Given the description of an element on the screen output the (x, y) to click on. 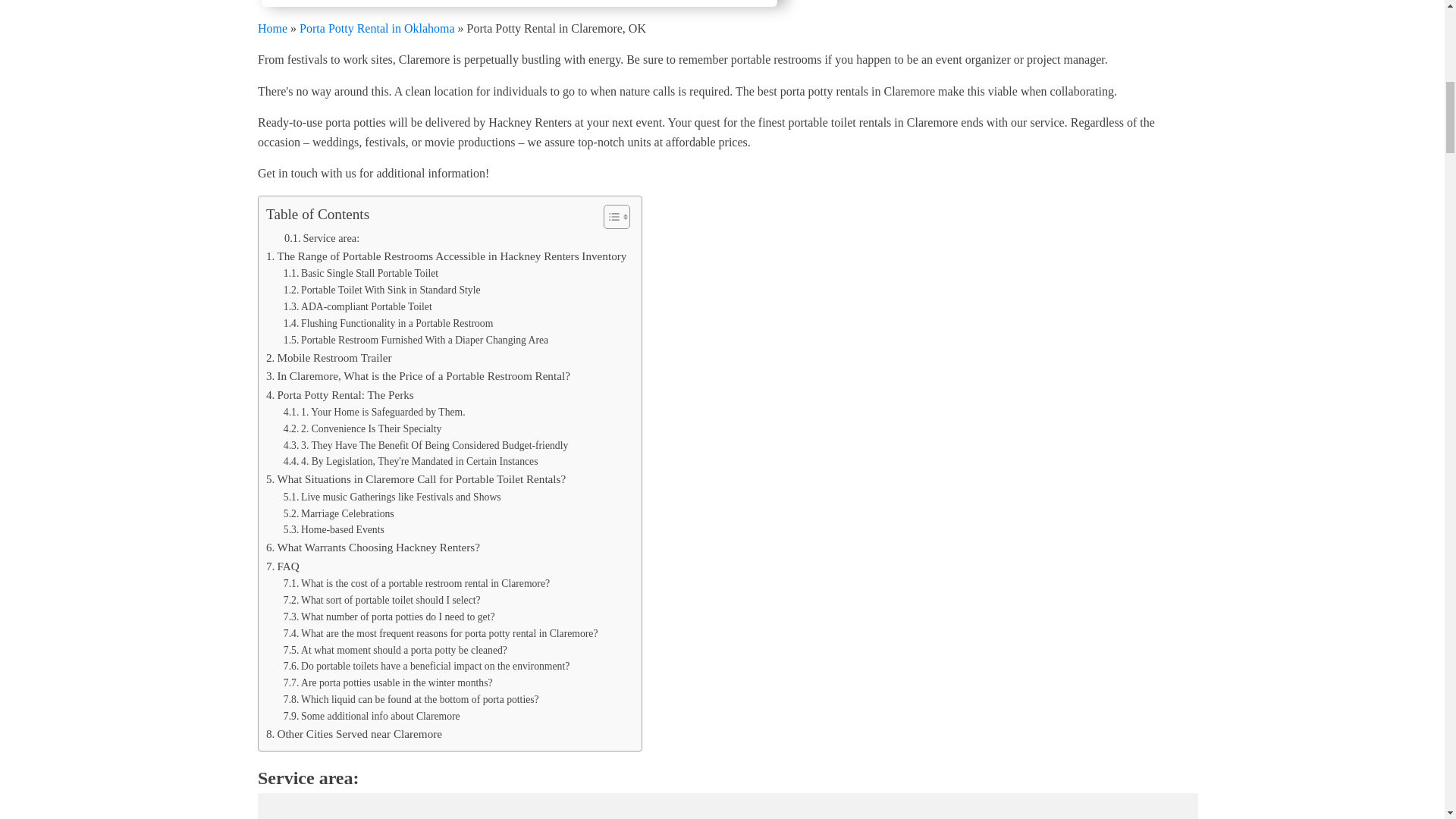
2. Convenience Is Their Specialty (362, 428)
Home (271, 27)
4. By Legislation, They're Mandated in Certain Instances (410, 461)
Basic Single Stall Portable Toilet (360, 273)
Live music Gatherings like Festivals and Shows (391, 497)
ADA-compliant Portable Toilet (357, 306)
Porta Potty Rental: The Perks (339, 393)
Porta Potty Rental in Oklahoma (376, 27)
Mobile Restroom Trailer (328, 357)
